Given the description of an element on the screen output the (x, y) to click on. 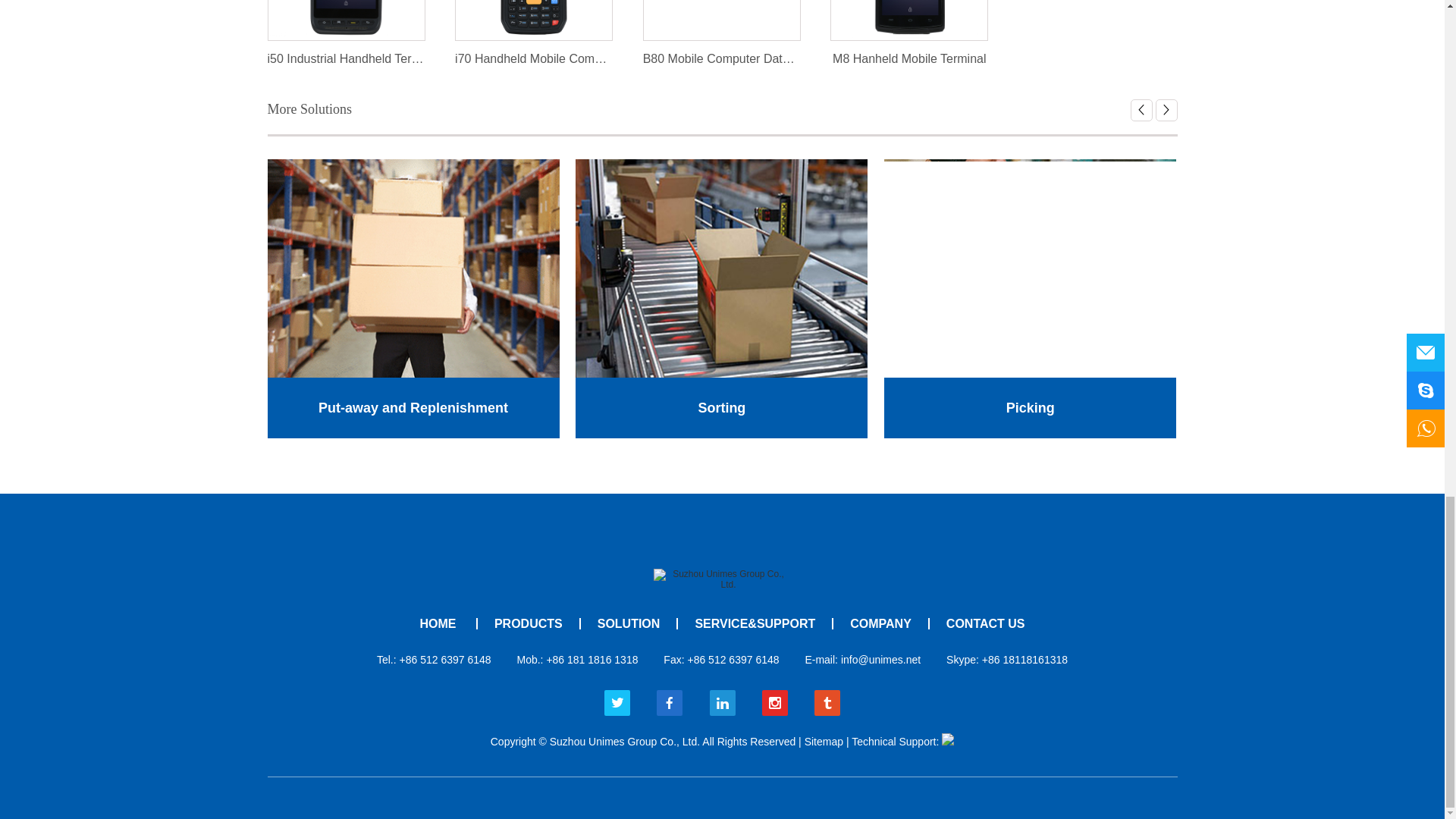
i70 Handheld Mobile Computer (533, 58)
B80 Mobile Computer Datasheet (721, 20)
i50 Industrial Handheld Terminal (346, 20)
B80 Mobile Computer Datasheet (721, 20)
i70 Handheld Mobile Computer (533, 20)
B80 Mobile Computer Datasheet (721, 58)
i50 Industrial Handheld Terminal (345, 20)
i70 Handheld Mobile Computer (533, 20)
